Given the description of an element on the screen output the (x, y) to click on. 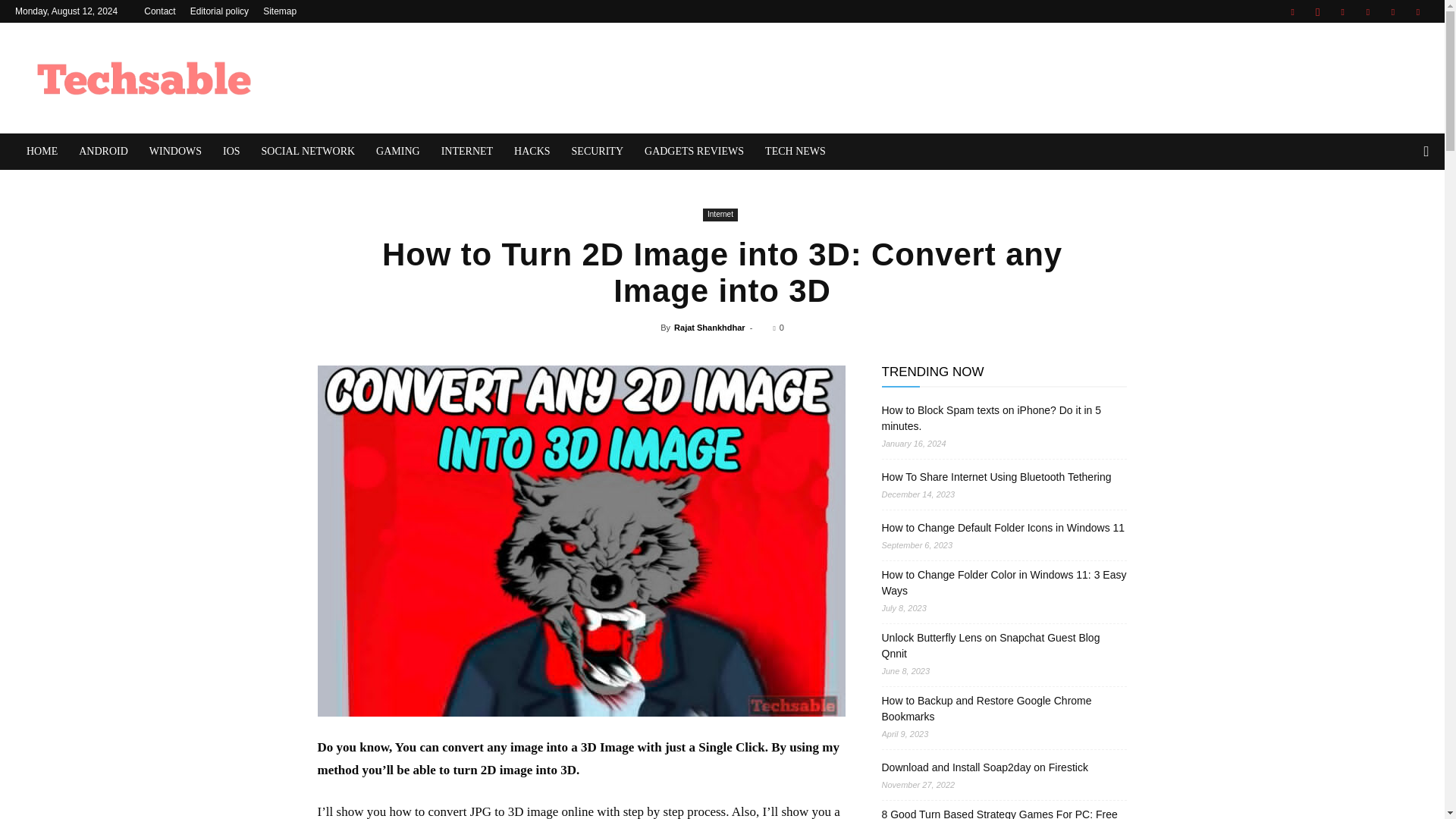
Twitter (1393, 11)
Pinterest (1367, 11)
Contact (159, 10)
HOME (42, 151)
Sitemap (280, 10)
ANDROID (103, 151)
Facebook (1292, 11)
Linkedin (1343, 11)
Editorial policy (219, 10)
Techsable (143, 77)
